Given the description of an element on the screen output the (x, y) to click on. 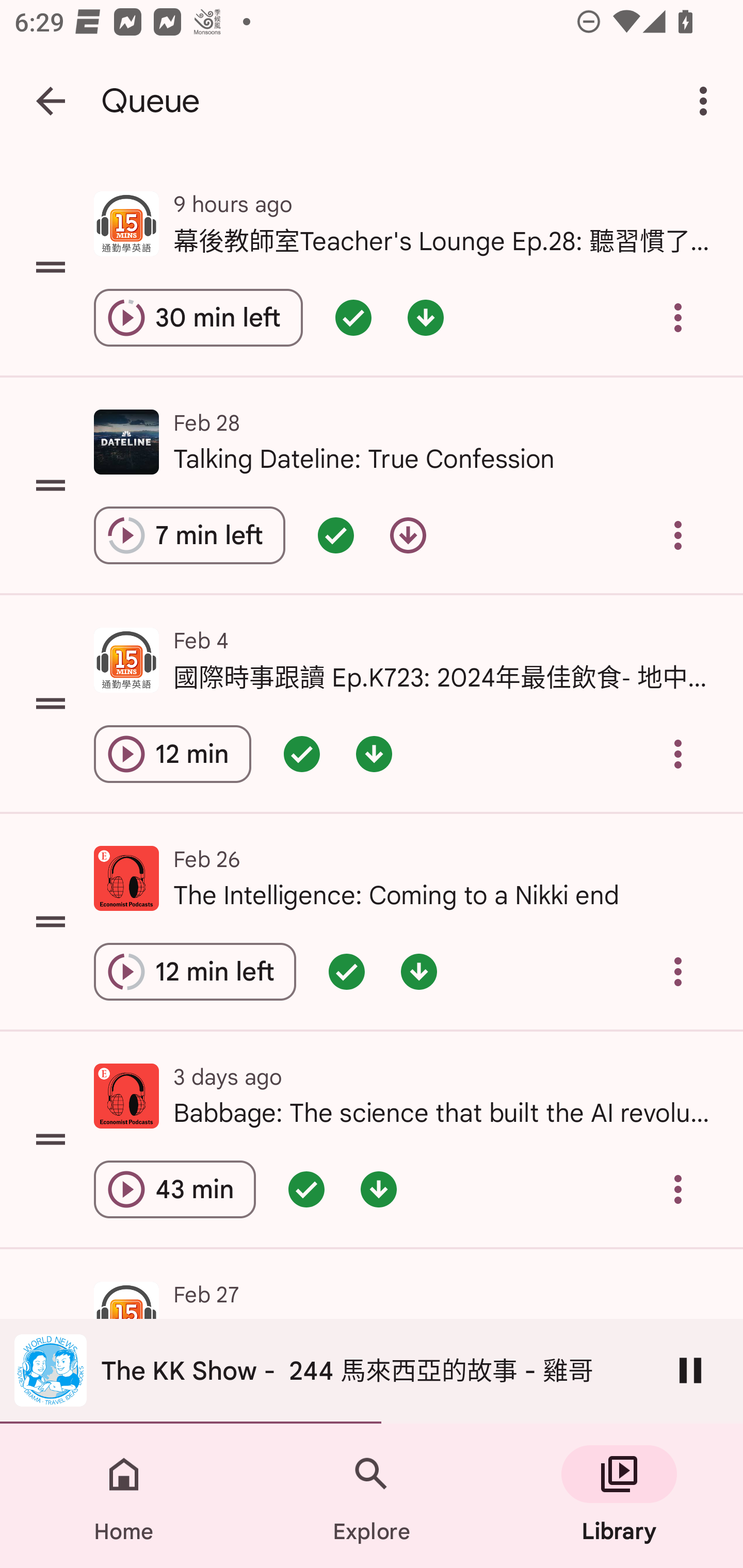
Navigate up (50, 101)
More options (706, 101)
Episode queued - double tap for options (353, 317)
Episode downloaded - double tap for options (425, 317)
Overflow menu (677, 317)
Episode queued - double tap for options (335, 535)
Download episode (408, 535)
Overflow menu (677, 535)
Episode queued - double tap for options (301, 754)
Episode downloaded - double tap for options (374, 754)
Overflow menu (677, 754)
Episode queued - double tap for options (346, 971)
Episode downloaded - double tap for options (418, 971)
Overflow menu (677, 971)
Episode queued - double tap for options (306, 1189)
Episode downloaded - double tap for options (378, 1189)
Overflow menu (677, 1189)
Pause (690, 1370)
Home (123, 1495)
Explore (371, 1495)
